Given the description of an element on the screen output the (x, y) to click on. 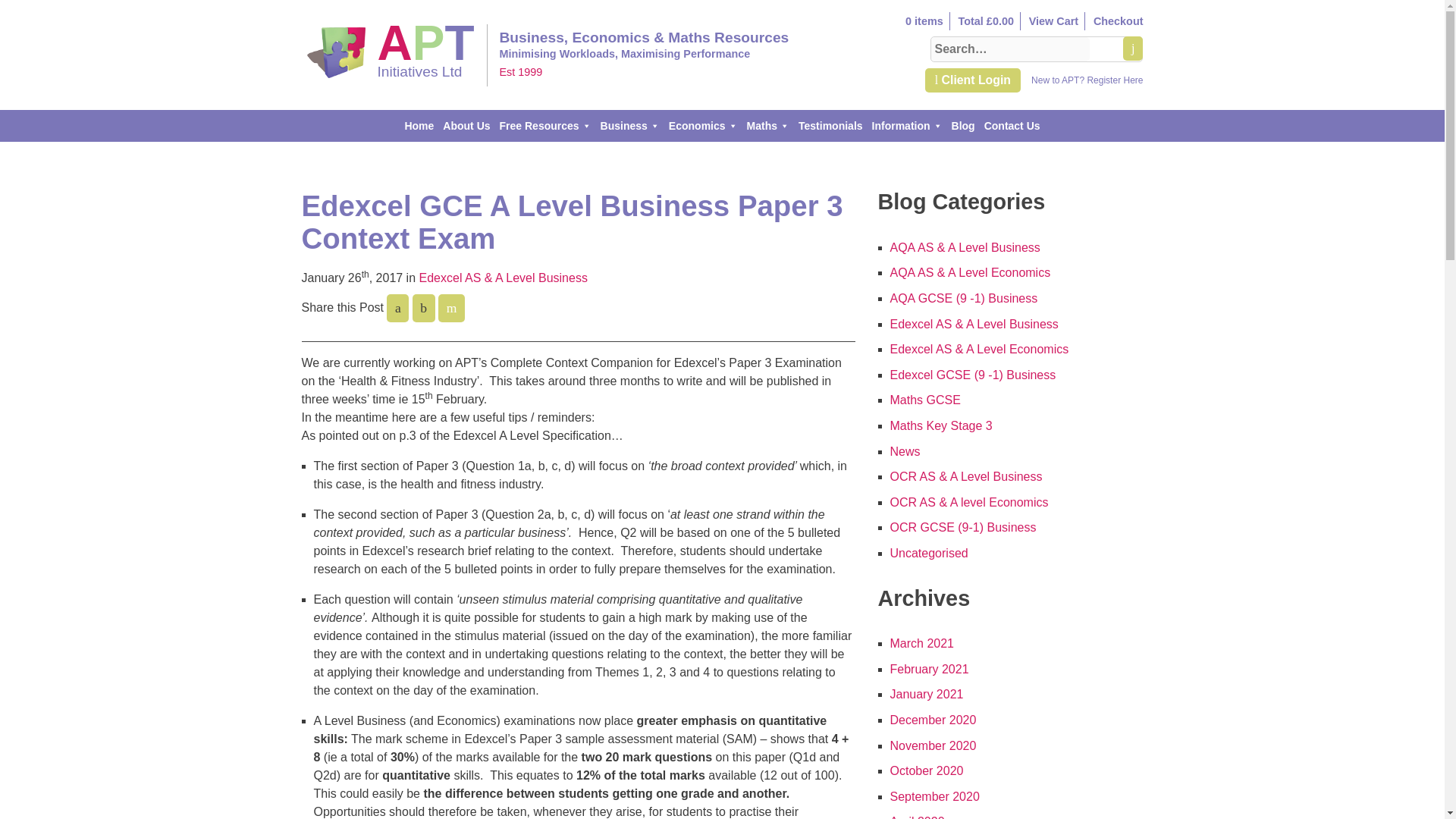
Email (451, 308)
Checkout (1117, 20)
Free Resources (393, 76)
My Account (545, 125)
APT Initiatives (1086, 80)
New to APT? Register Here (333, 52)
Checkout (1086, 80)
My Account (1117, 20)
View Basket (972, 79)
